Given the description of an element on the screen output the (x, y) to click on. 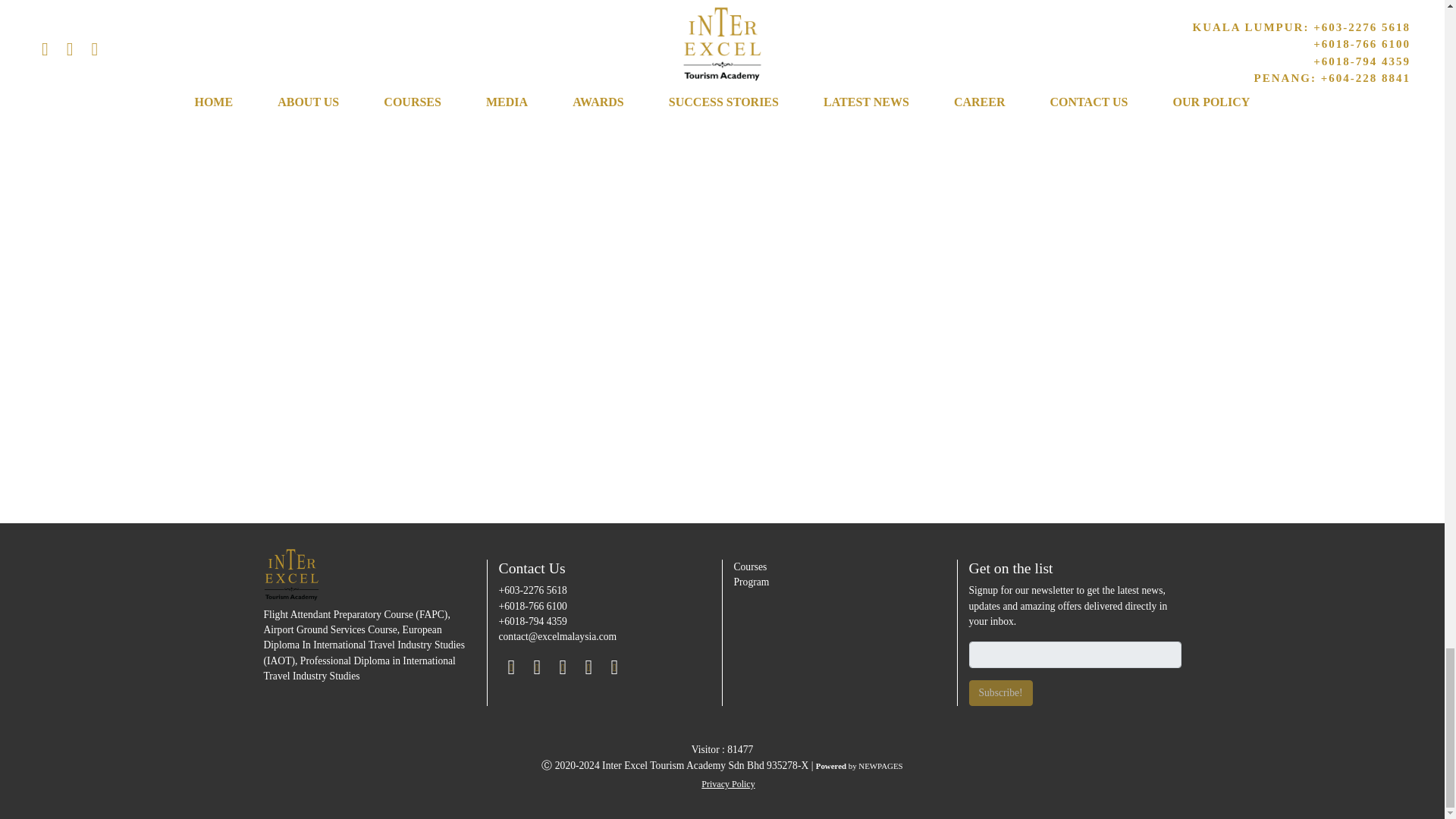
Subscribe! (1000, 692)
